Given the description of an element on the screen output the (x, y) to click on. 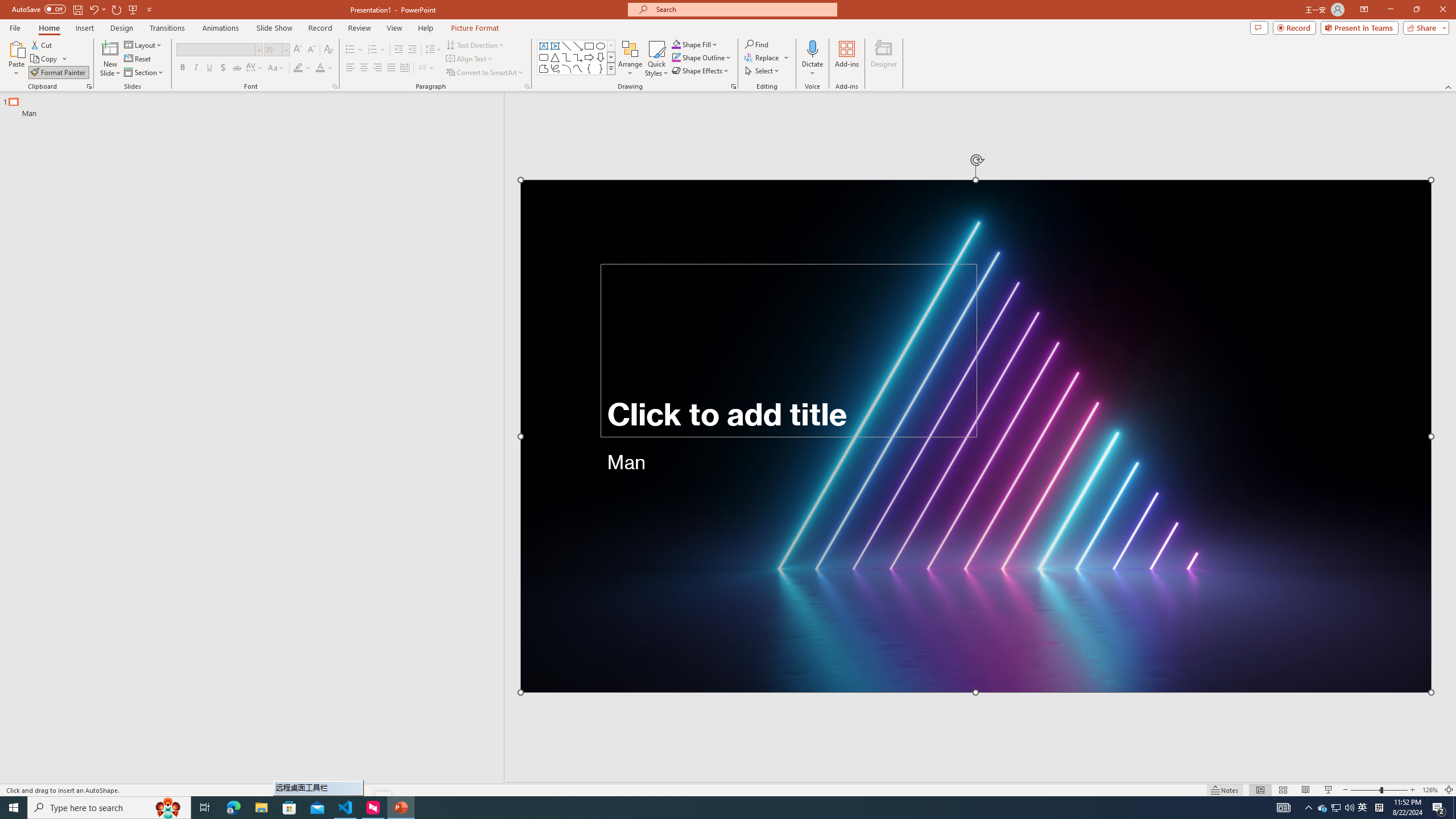
Rectangle (589, 45)
Freeform: Shape (543, 68)
Zoom 126% (1430, 790)
Font Color (324, 67)
Replace... (767, 56)
Strikethrough (237, 67)
Align Right (377, 67)
Find... (756, 44)
Freeform: Scribble (554, 68)
Replace... (762, 56)
Text Box (543, 45)
Curve (577, 68)
